Given the description of an element on the screen output the (x, y) to click on. 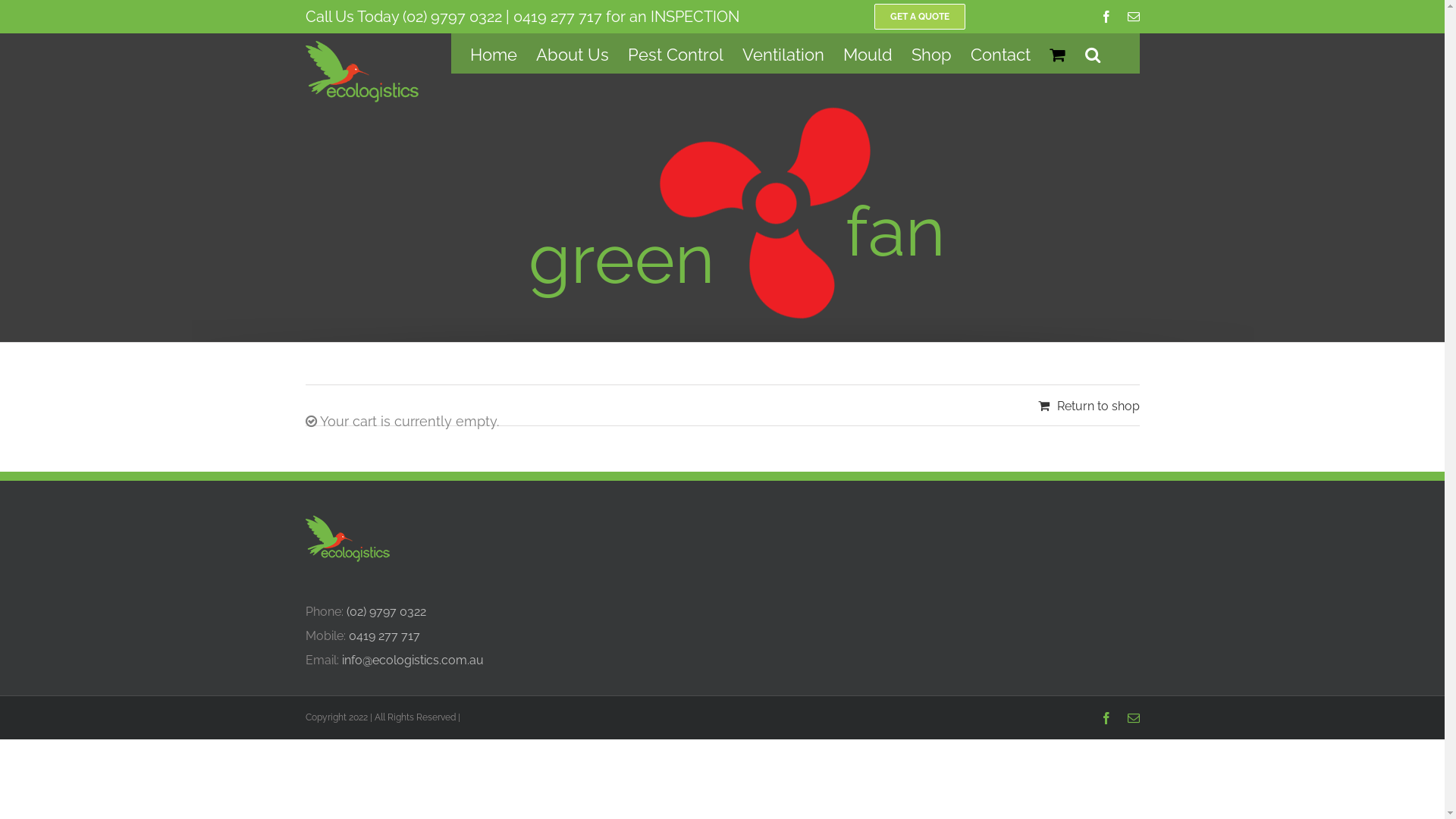
Shop Element type: text (931, 53)
(02) 9797 0322 Element type: text (385, 611)
Mould Element type: text (867, 53)
Pest Control Element type: text (675, 53)
Email Element type: text (1132, 16)
GET A QUOTE Element type: text (918, 16)
info@ecologistics.com.au Element type: text (412, 659)
Home Element type: text (493, 53)
Email Element type: text (1132, 718)
Facebook Element type: text (1105, 718)
About Us Element type: text (571, 53)
0419 277 717 Element type: text (384, 635)
Contact Element type: text (1000, 53)
Return to shop Element type: text (1088, 405)
(02) 9797 0322 Element type: text (451, 16)
0419 277 717 Element type: text (556, 16)
Ventilation Element type: text (782, 53)
Facebook Element type: text (1105, 16)
Search Element type: hover (1092, 53)
